Given the description of an element on the screen output the (x, y) to click on. 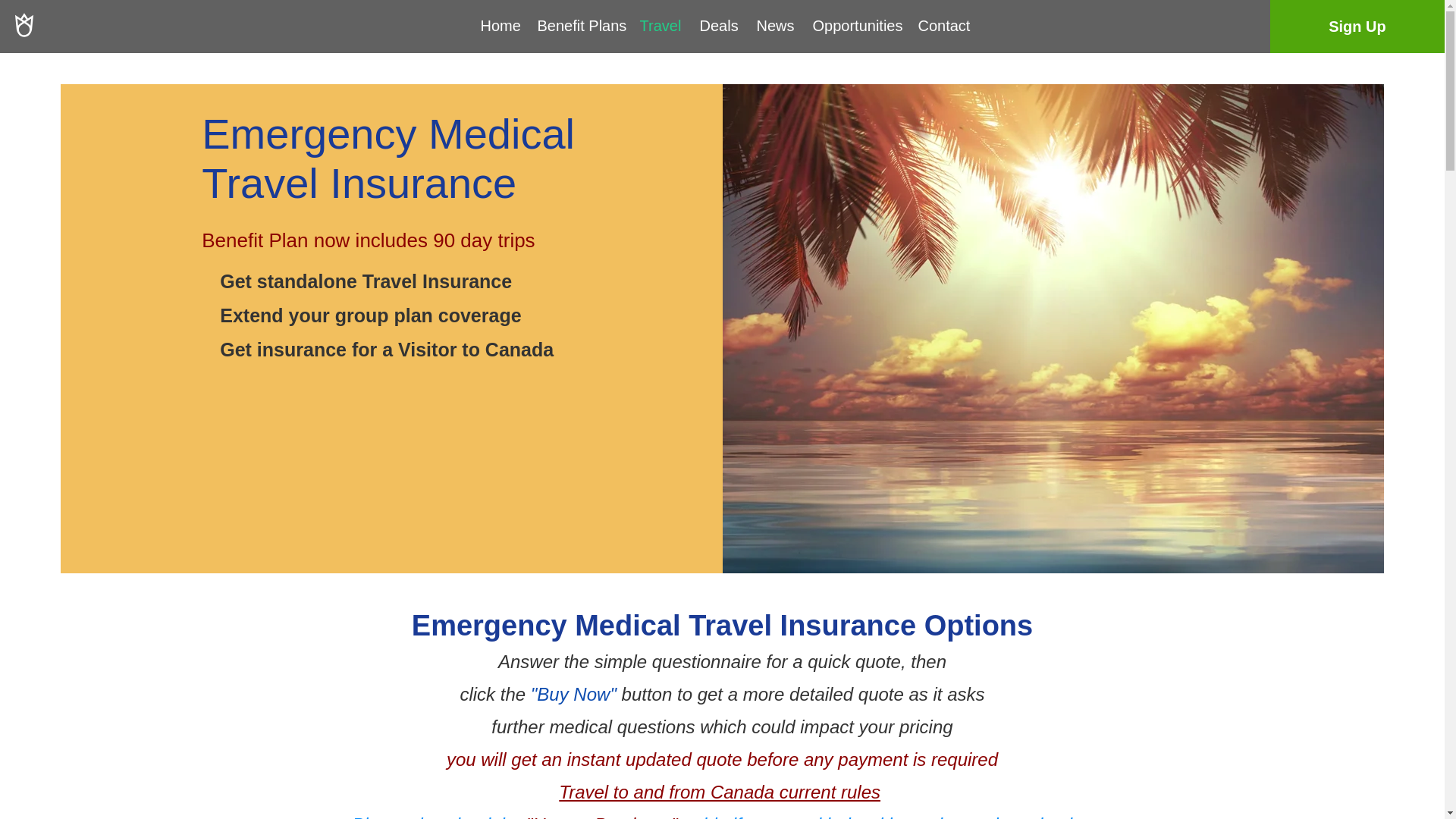
Opportunities (852, 26)
Travel (657, 26)
Benefit Plans (576, 26)
Deals (716, 26)
News (772, 26)
Travel to and from Canada current rules (719, 792)
"How to Purchase" (601, 816)
Contact (941, 26)
Home (496, 26)
